Given the description of an element on the screen output the (x, y) to click on. 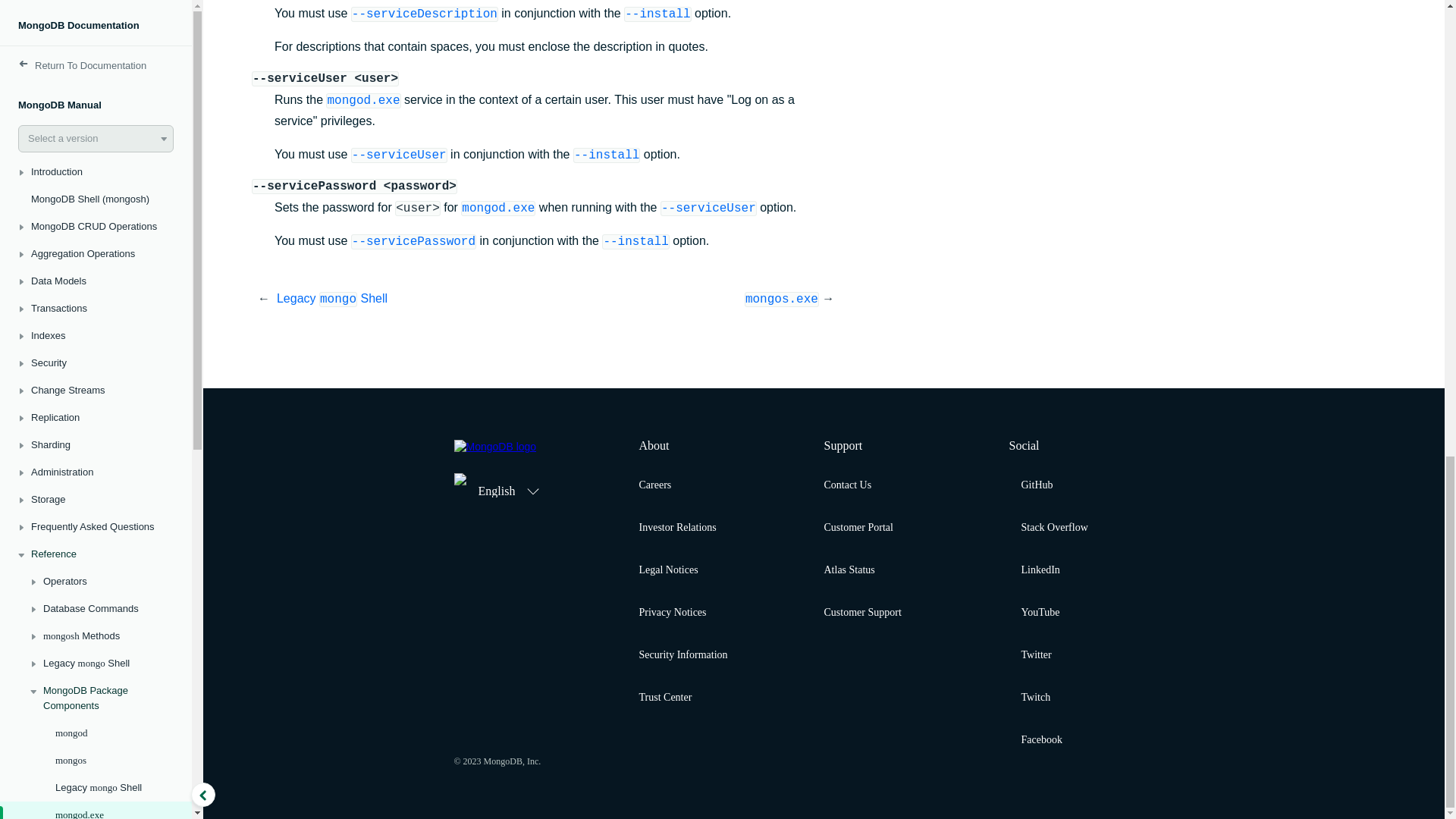
Previous Section (411, 298)
Collation (96, 134)
Connection String URI Format (96, 99)
System Collections (96, 64)
Next Section (682, 298)
Explain Results (96, 37)
MongoDB Limits and Thresholds (96, 12)
